Given the description of an element on the screen output the (x, y) to click on. 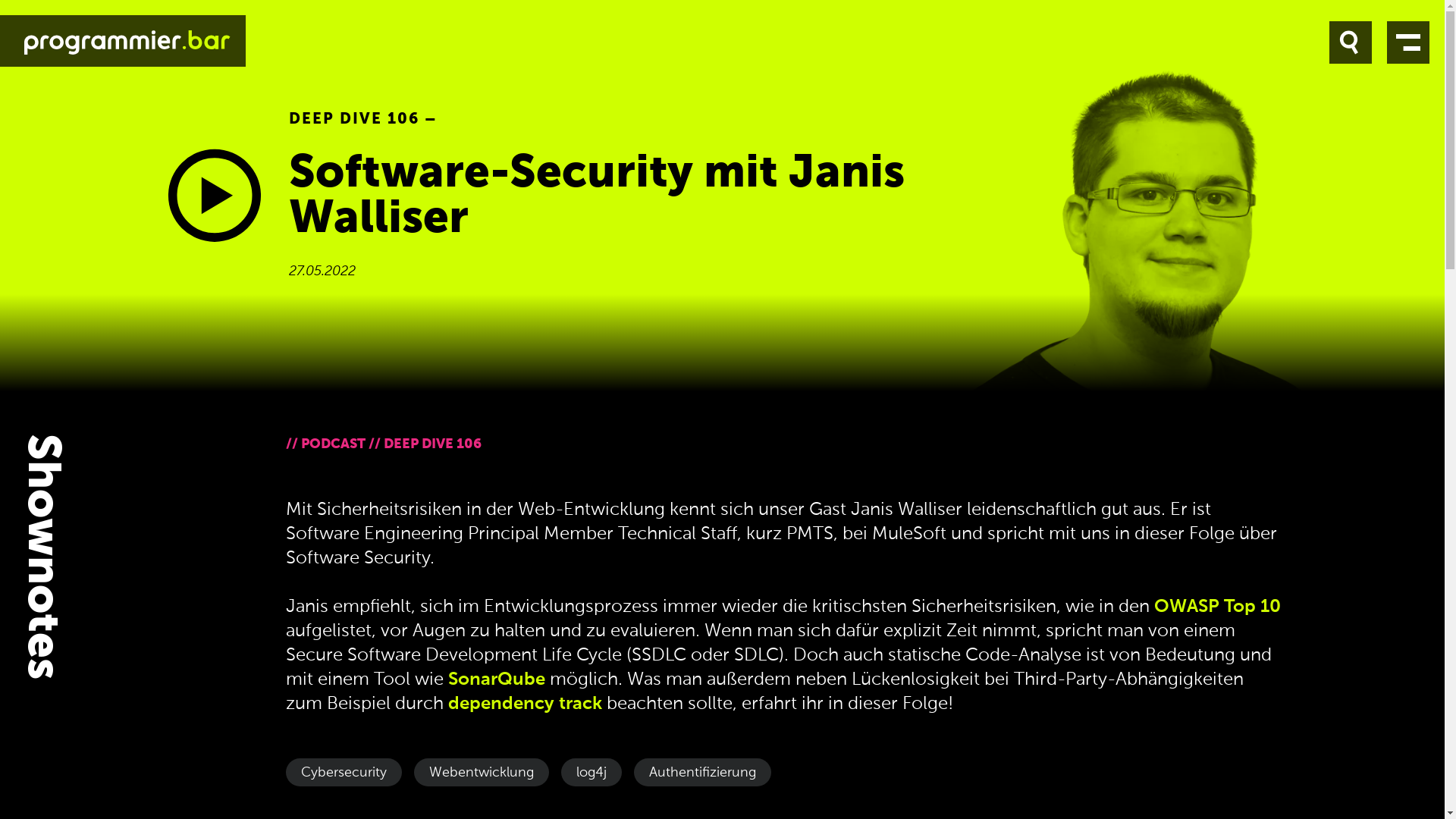
Webentwicklung Element type: text (481, 772)
Authentifizierung Element type: text (702, 772)
log4j Element type: text (591, 772)
Cybersecurity Element type: text (343, 772)
SonarQube Element type: text (495, 679)
PODCAST Element type: text (332, 444)
dependency track Element type: text (524, 703)
OWASP Top 10 Element type: text (1217, 606)
